Given the description of an element on the screen output the (x, y) to click on. 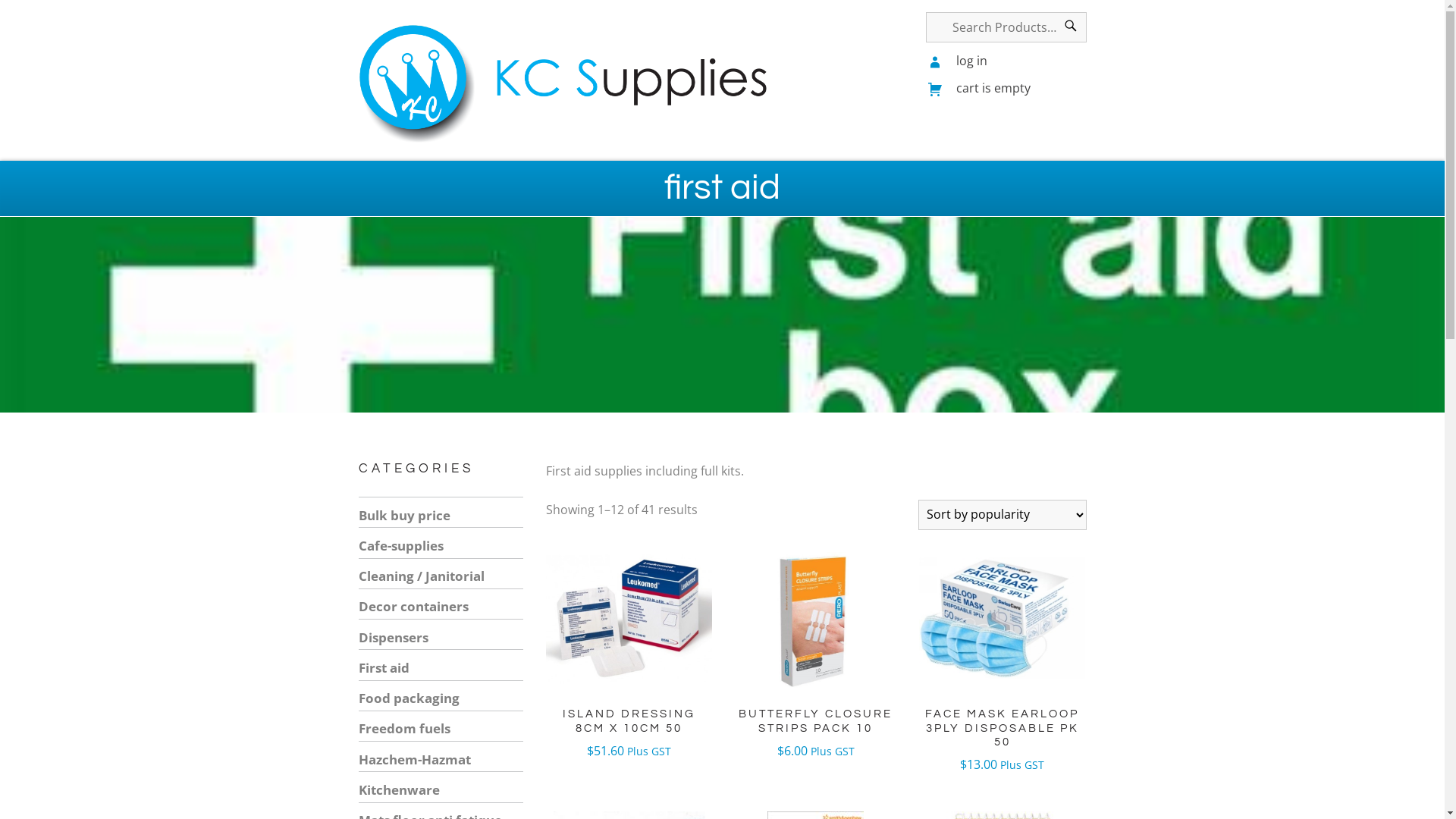
Search Element type: hover (1069, 27)
ISLAND DRESSING 8CM X 10CM 50
$51.60 Plus GST Element type: text (629, 651)
Hazchem-Hazmat Element type: text (413, 759)
Kitchenware Element type: text (398, 789)
First aid Element type: text (382, 667)
Dispensers Element type: text (392, 637)
cart is empty Element type: text (977, 87)
log in Element type: text (956, 60)
FACE MASK EARLOOP 3PLY DISPOSABLE PK 50
$13.00 Plus GST Element type: text (1002, 658)
Cleaning / Janitorial Element type: text (420, 575)
Food packaging Element type: text (407, 697)
Return to homepage Element type: hover (565, 83)
BUTTERFLY CLOSURE STRIPS PACK 10
$6.00 Plus GST Element type: text (815, 651)
Decor containers Element type: text (412, 606)
Freedom fuels Element type: text (403, 728)
Bulk buy price Element type: text (403, 515)
Cafe-supplies Element type: text (399, 545)
